Given the description of an element on the screen output the (x, y) to click on. 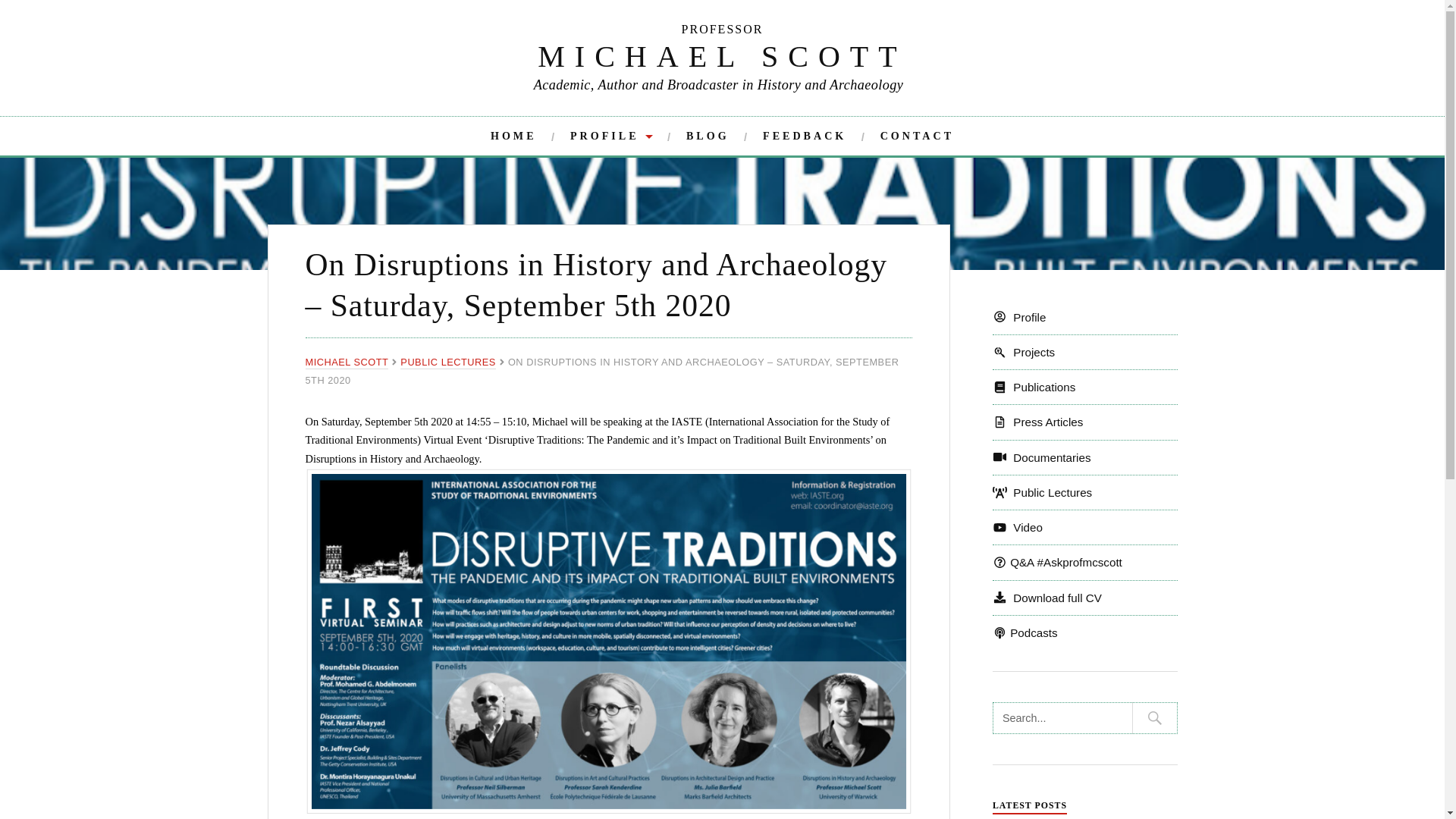
BLOG (707, 135)
  Profile (1019, 317)
HOME (513, 135)
  Publications (1033, 386)
FEEDBACK (803, 135)
Michael Scott Homepage (513, 135)
CONTACT (916, 135)
Michael Scott Profile (611, 135)
PROFILE (611, 135)
PUBLIC LECTURES (448, 362)
